Given the description of an element on the screen output the (x, y) to click on. 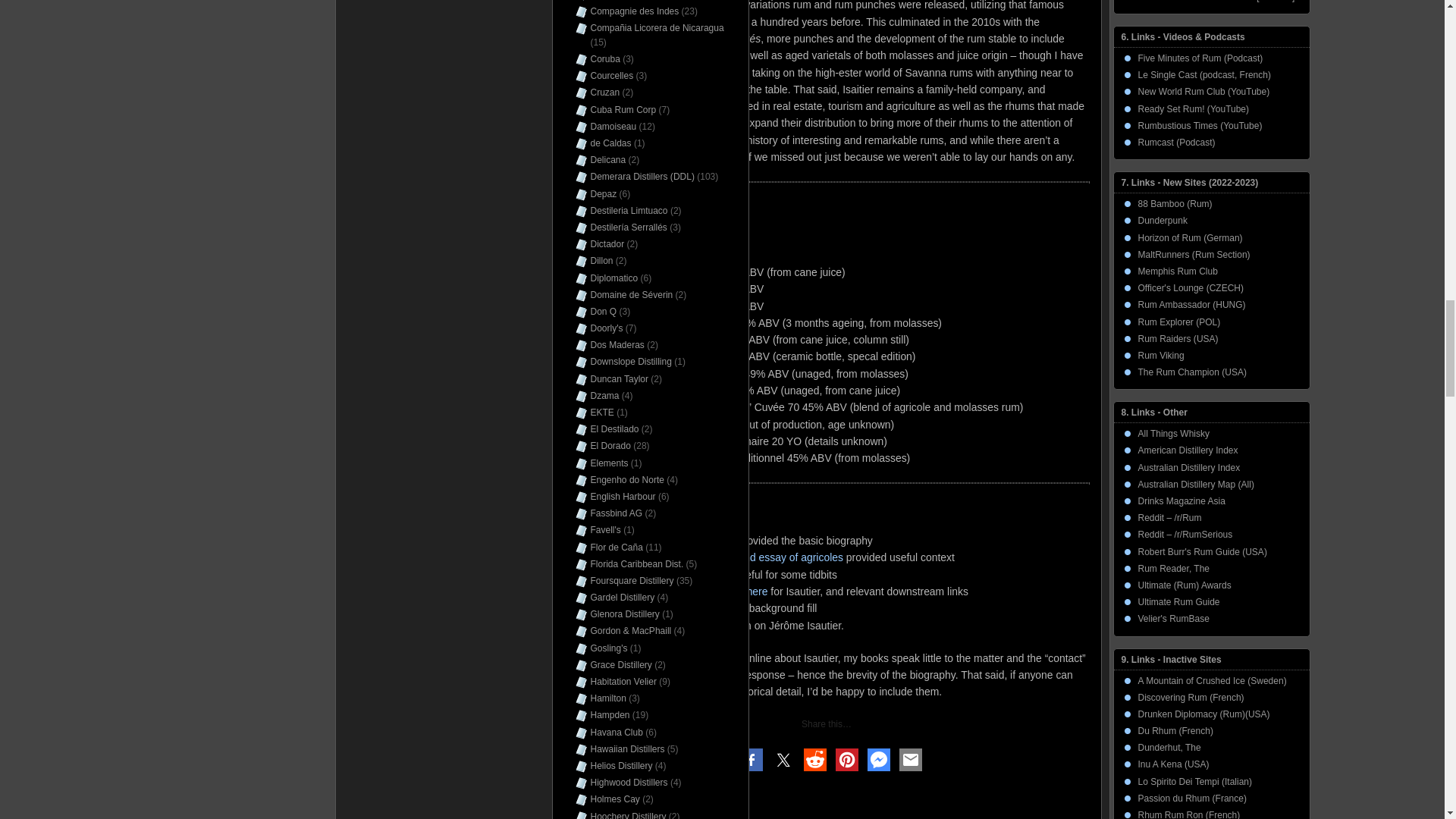
Wikipedia (617, 591)
company website (694, 540)
Rhum Attitude (627, 607)
here (757, 591)
historical background essay of agricoles (749, 557)
